Given the description of an element on the screen output the (x, y) to click on. 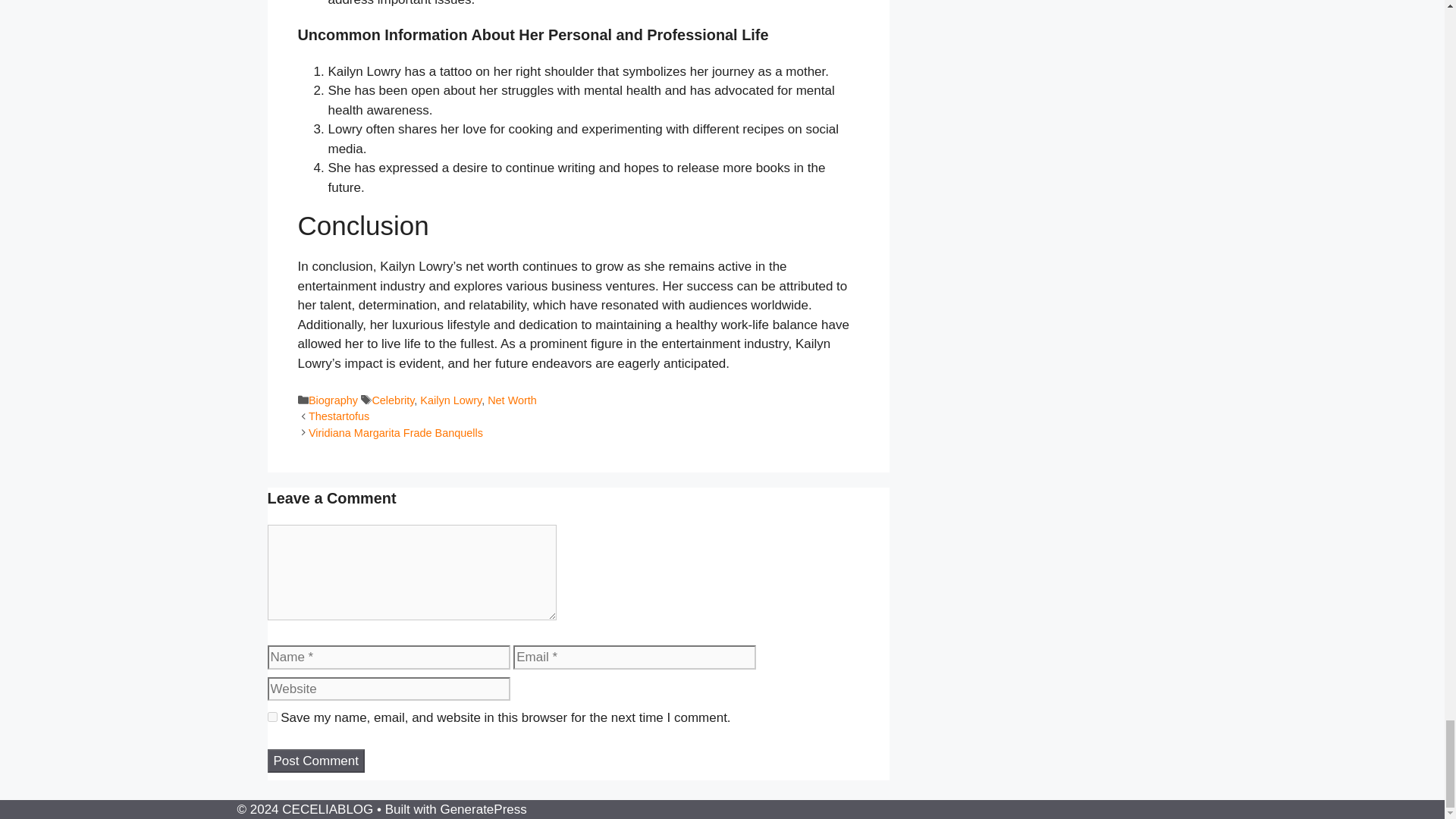
yes (271, 716)
Viridiana Margarita Frade Banquells (395, 432)
Post Comment (315, 761)
Thestartofus (338, 416)
Net Worth (512, 399)
Celebrity (392, 399)
Kailyn Lowry (450, 399)
Post Comment (315, 761)
Biography (333, 399)
